Given the description of an element on the screen output the (x, y) to click on. 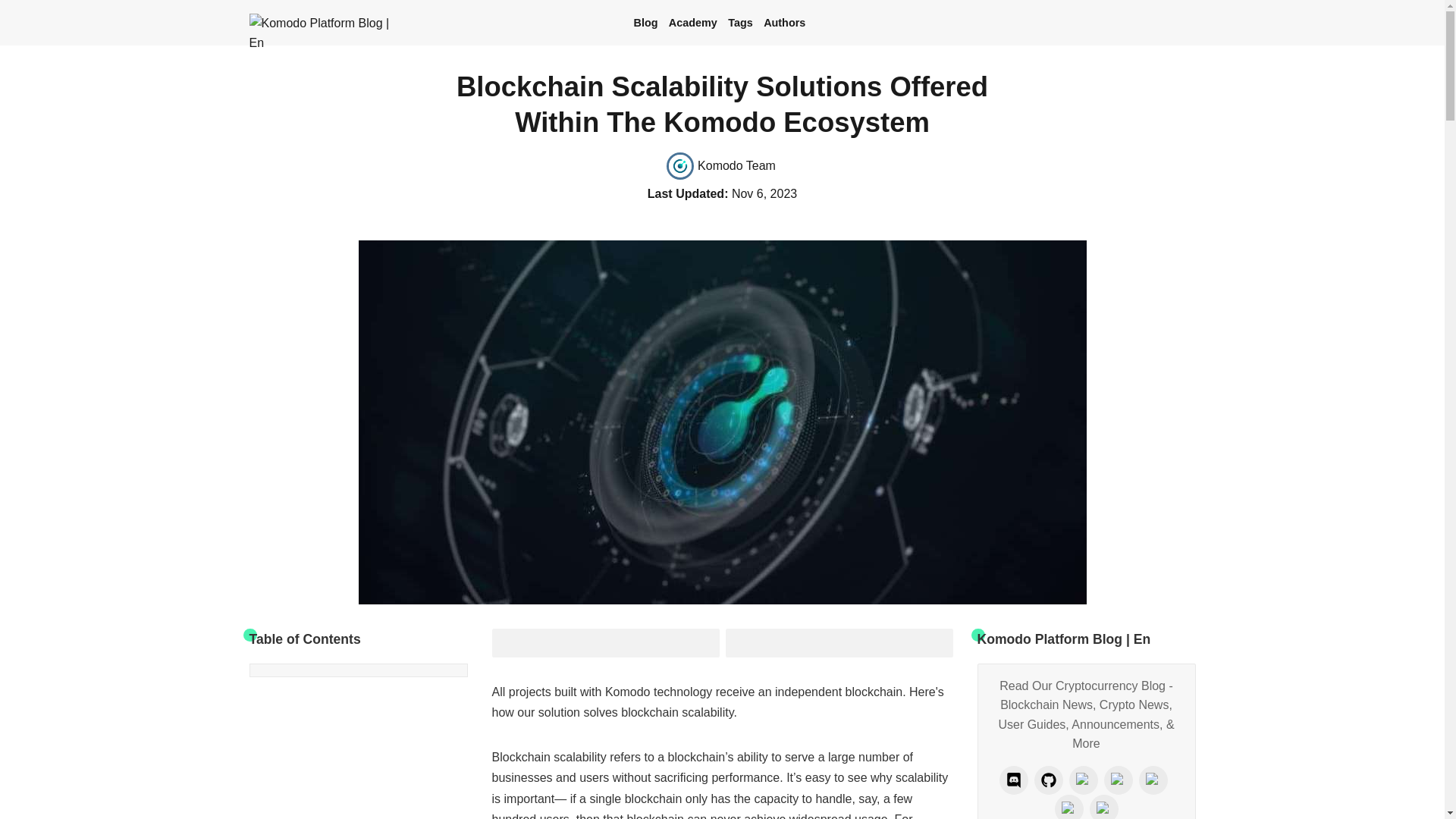
 Search (1159, 22)
Linkedin (1183, 22)
RSS (1068, 806)
Telegram (1103, 806)
Tags (1152, 779)
Blog (740, 22)
 Share on Twitter (645, 22)
Komodo Team (605, 642)
Youtube (722, 165)
